Given the description of an element on the screen output the (x, y) to click on. 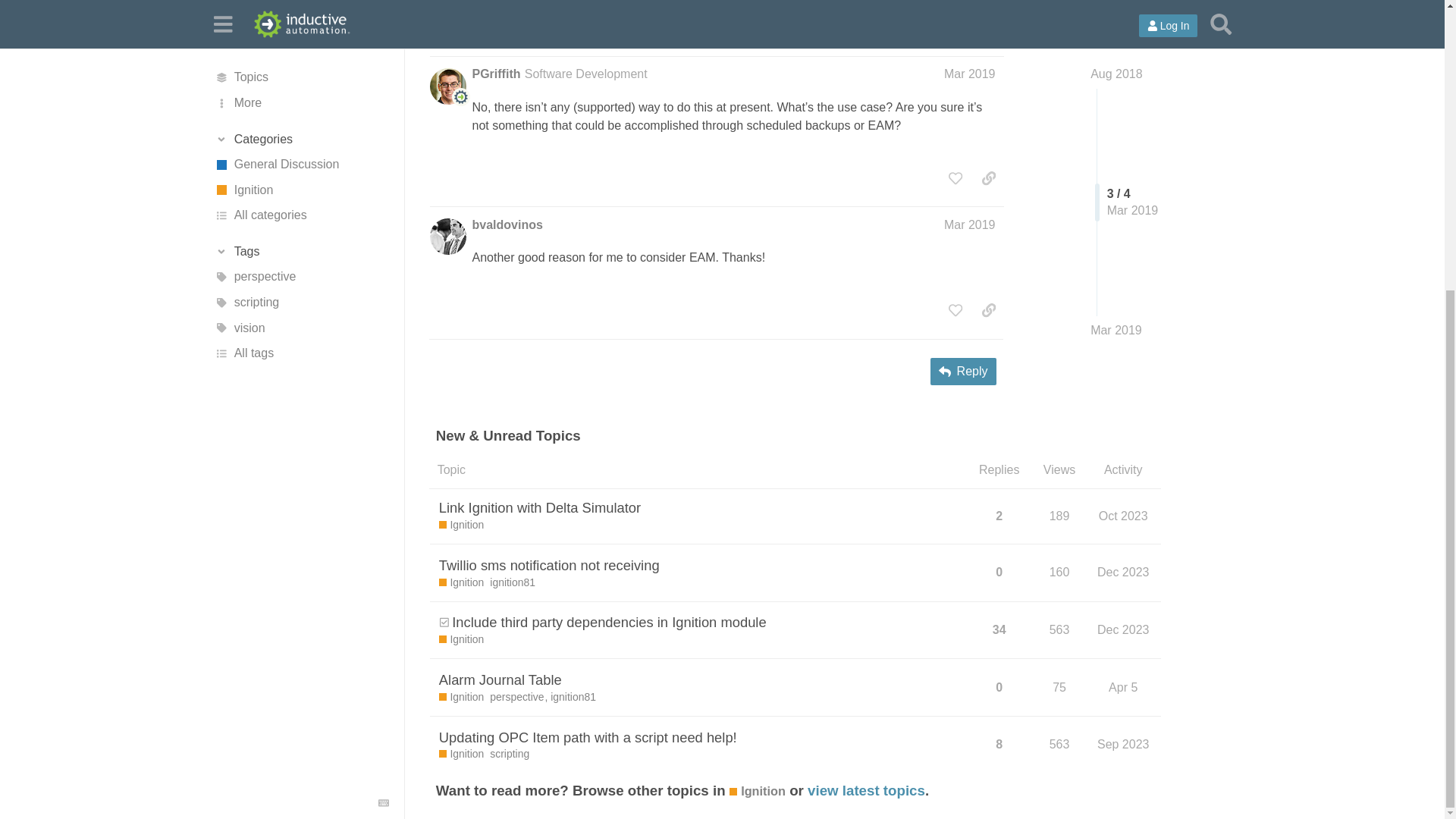
Keyboard Shortcuts (384, 361)
